Given the description of an element on the screen output the (x, y) to click on. 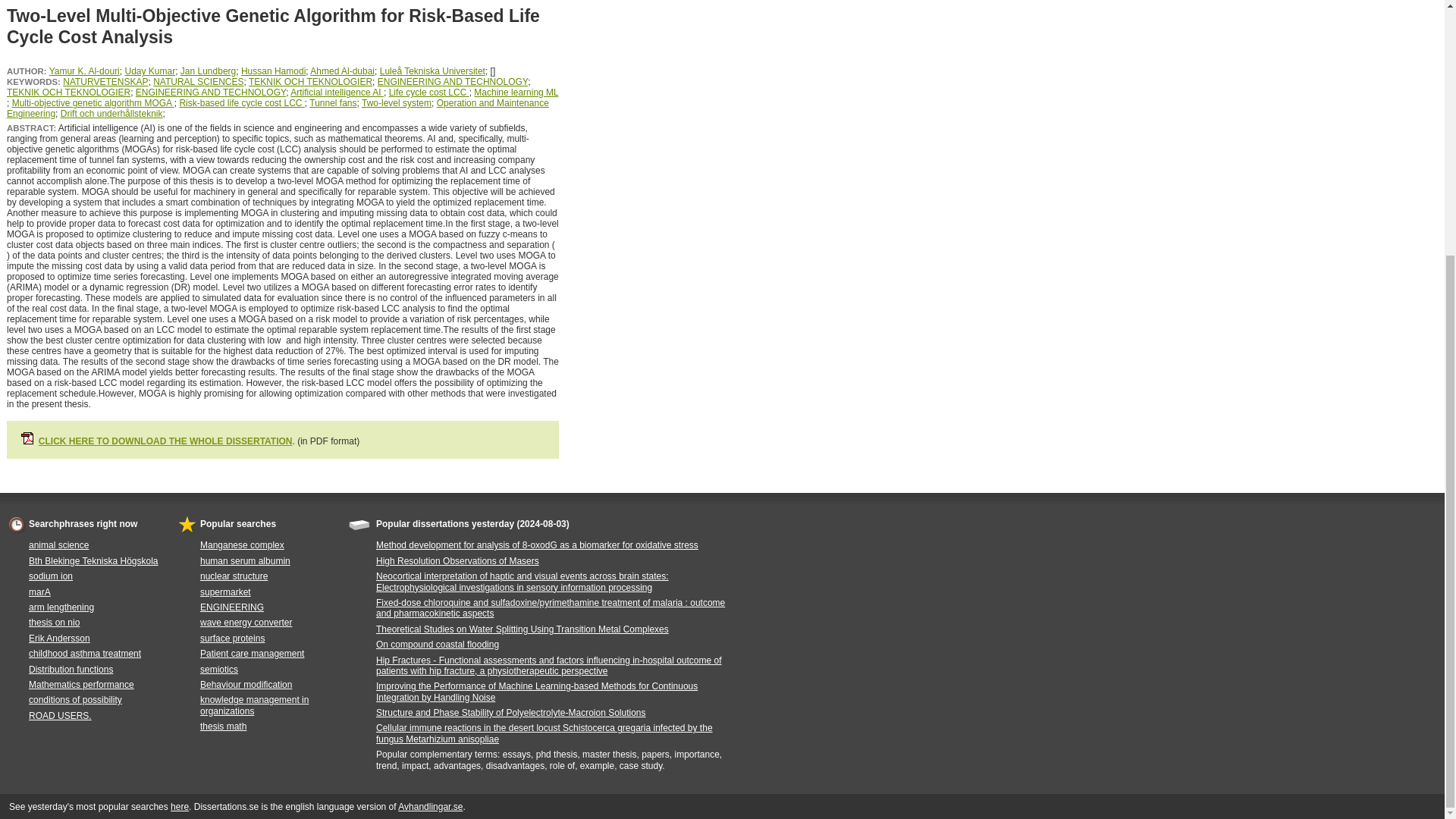
Operation and Maintenance Engineering (277, 107)
Uday Kumar (148, 71)
TEKNIK OCH TEKNOLOGIER (310, 81)
sodium ion (50, 575)
thesis on nio (54, 622)
Ahmed Al-dubai (342, 71)
TEKNIK OCH TEKNOLOGIER (69, 91)
CLICK HERE TO DOWNLOAD THE WHOLE DISSERTATION (165, 440)
NATURVETENSKAP (105, 81)
Erik Andersson (59, 638)
ENGINEERING AND TECHNOLOGY (452, 81)
Tunnel fans (332, 102)
Two-level system (395, 102)
Risk-based life cycle cost LCC (241, 102)
Artificial intelligence AI (336, 91)
